Given the description of an element on the screen output the (x, y) to click on. 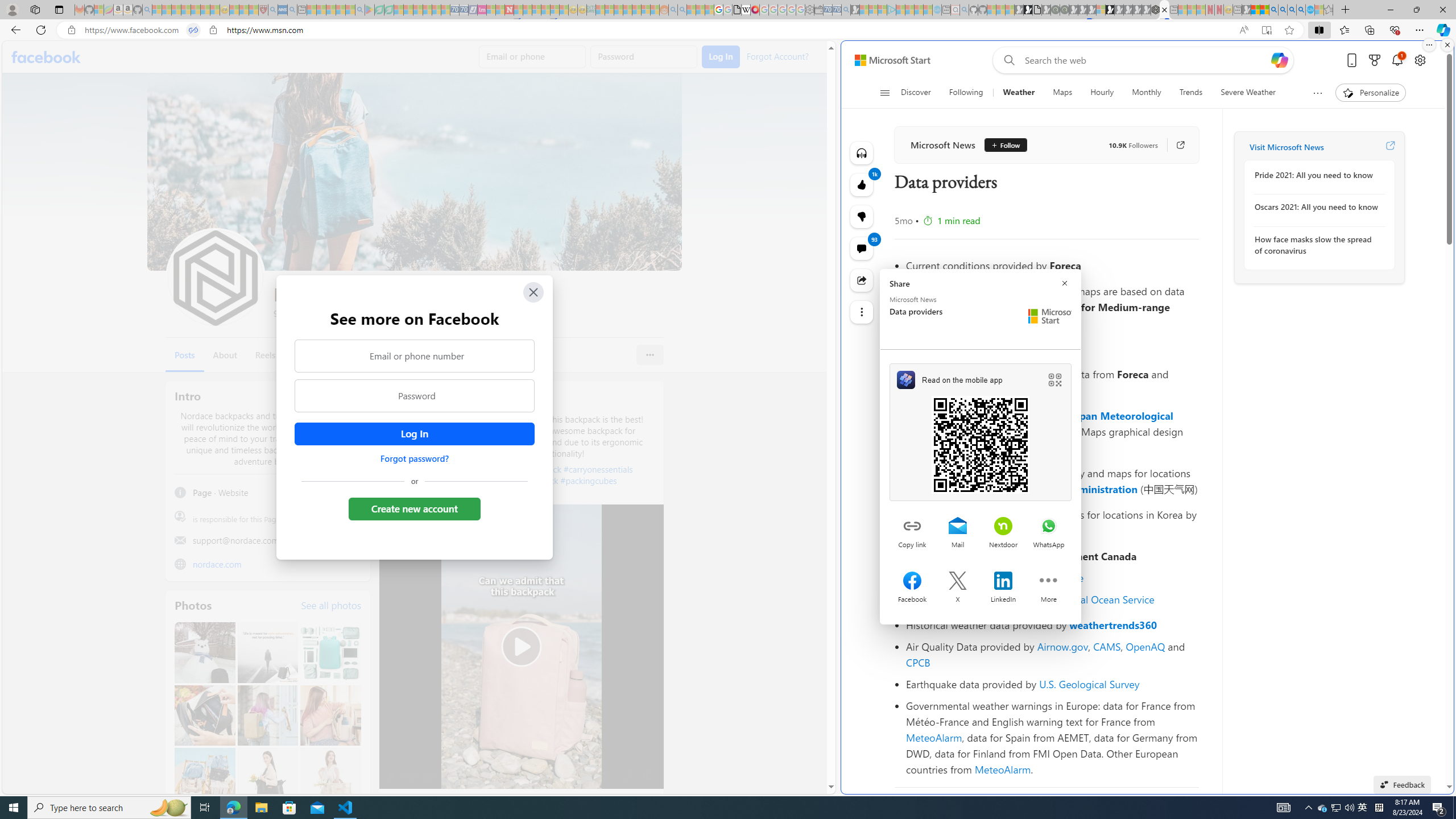
Share via email (957, 526)
Email or phone number (414, 355)
Trends (1190, 92)
Share on Nextdoor (1002, 526)
Share on X (957, 581)
More options. (1428, 45)
